Given the description of an element on the screen output the (x, y) to click on. 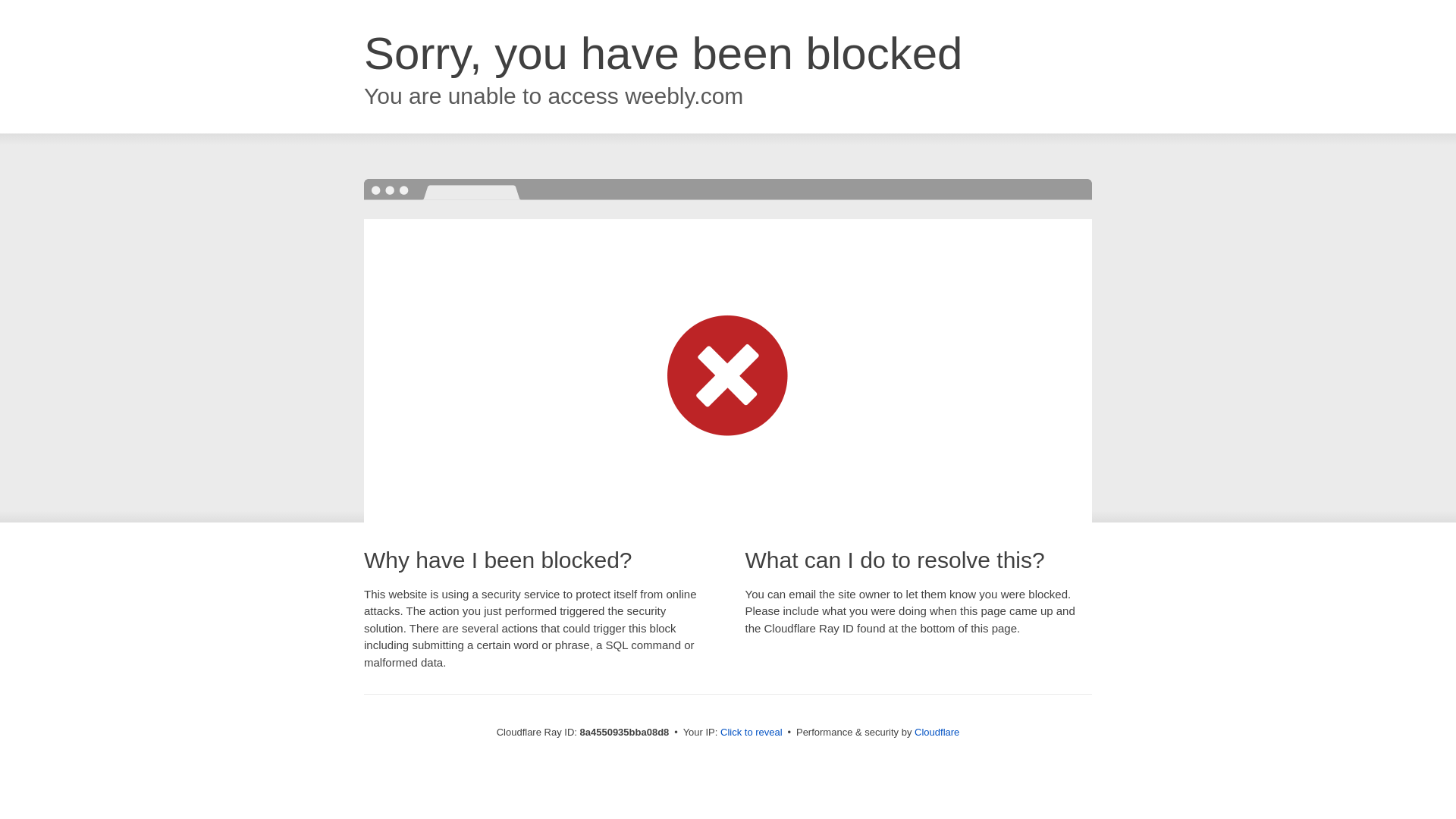
Click to reveal (751, 732)
Cloudflare (936, 731)
